Given the description of an element on the screen output the (x, y) to click on. 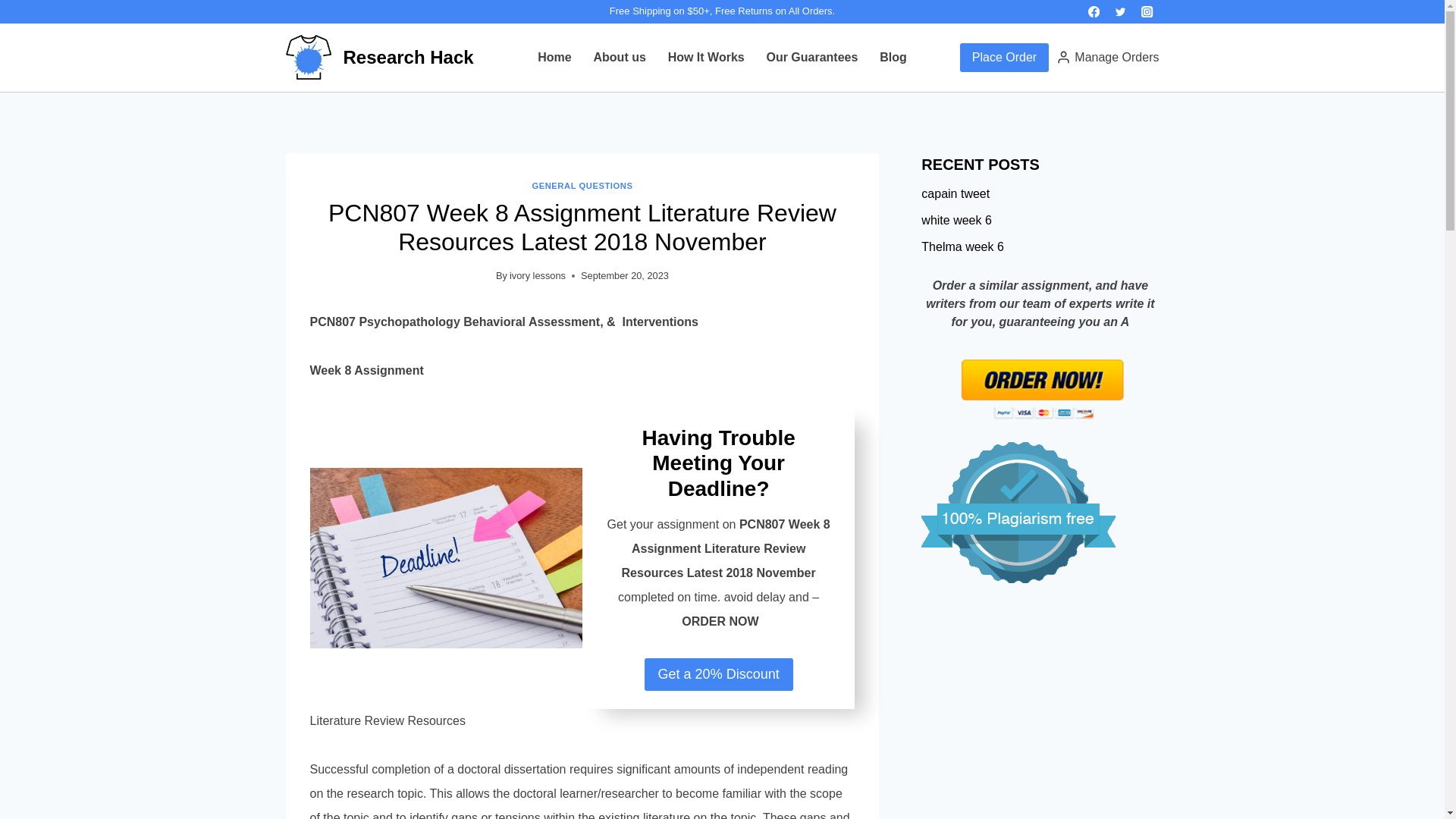
ivory lessons (537, 275)
Our Guarantees (812, 57)
Blog (893, 57)
Place Order (1003, 57)
Research Hack (379, 57)
How It Works (705, 57)
About us (619, 57)
Manage Orders (1107, 56)
GENERAL QUESTIONS (581, 185)
Home (554, 57)
